Given the description of an element on the screen output the (x, y) to click on. 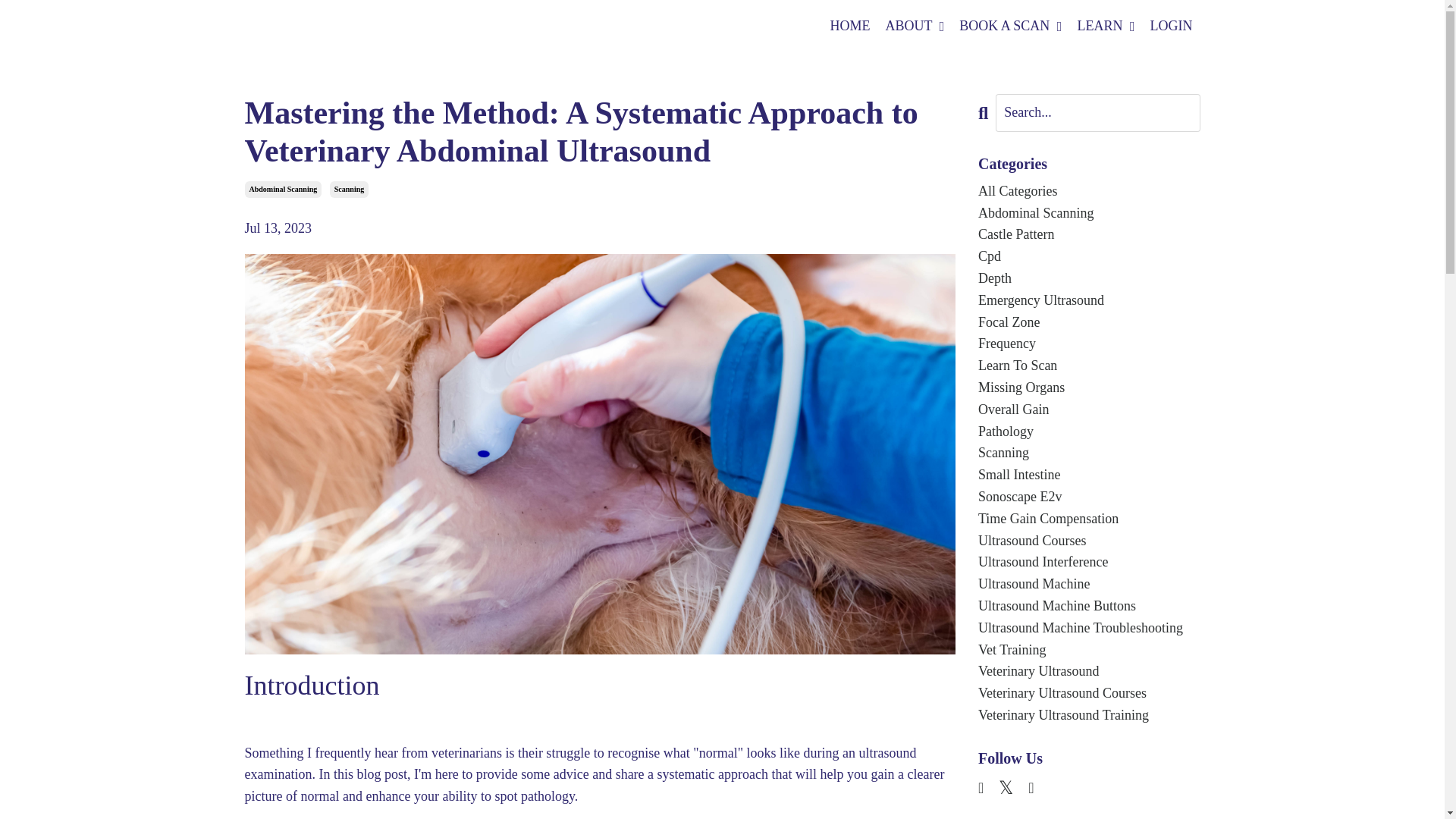
Small Intestine (1088, 475)
Veterinary Ultrasound (1088, 671)
Emergency Ultrasound (1088, 300)
Scanning (349, 189)
Veterinary Ultrasound Training (1088, 715)
Learn To Scan (1088, 365)
Overall Gain (1088, 409)
LEARN (1105, 25)
Ultrasound Courses (1088, 540)
ABOUT (914, 25)
Cpd (1088, 256)
Time Gain Compensation (1088, 518)
LOGIN (1171, 25)
Ultrasound Machine (1088, 584)
Veterinary Ultrasound Courses (1088, 693)
